Given the description of an element on the screen output the (x, y) to click on. 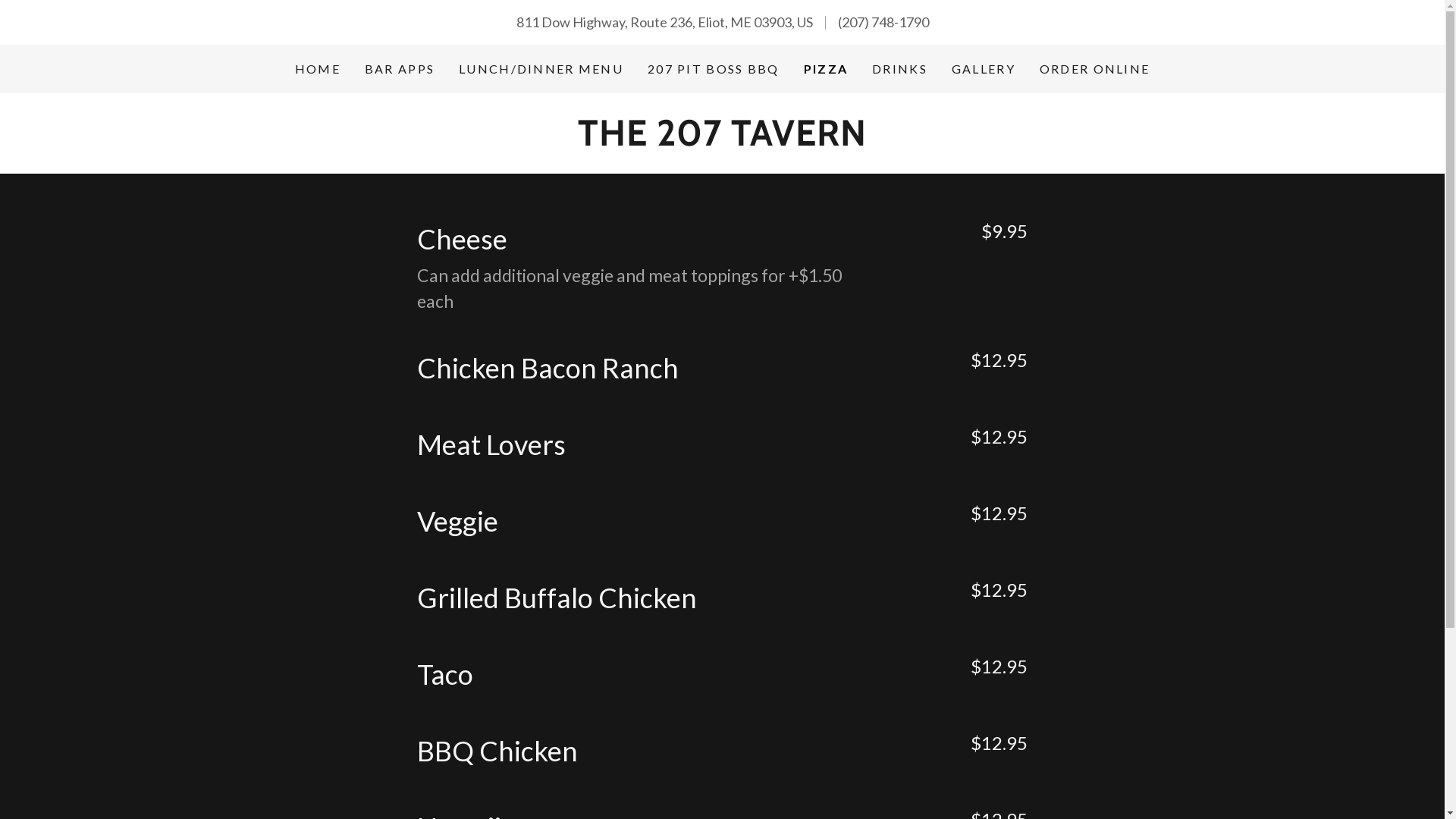
DRINKS Element type: text (899, 68)
207 PIT BOSS BBQ Element type: text (713, 68)
LUNCH/DINNER MENU Element type: text (540, 68)
(207) 748-1790 Element type: text (882, 21)
HOME Element type: text (317, 68)
GALLERY Element type: text (983, 68)
THE 207 TAVERN Element type: text (721, 139)
PIZZA Element type: text (825, 68)
BAR APPS Element type: text (399, 68)
ORDER ONLINE Element type: text (1094, 68)
